Given the description of an element on the screen output the (x, y) to click on. 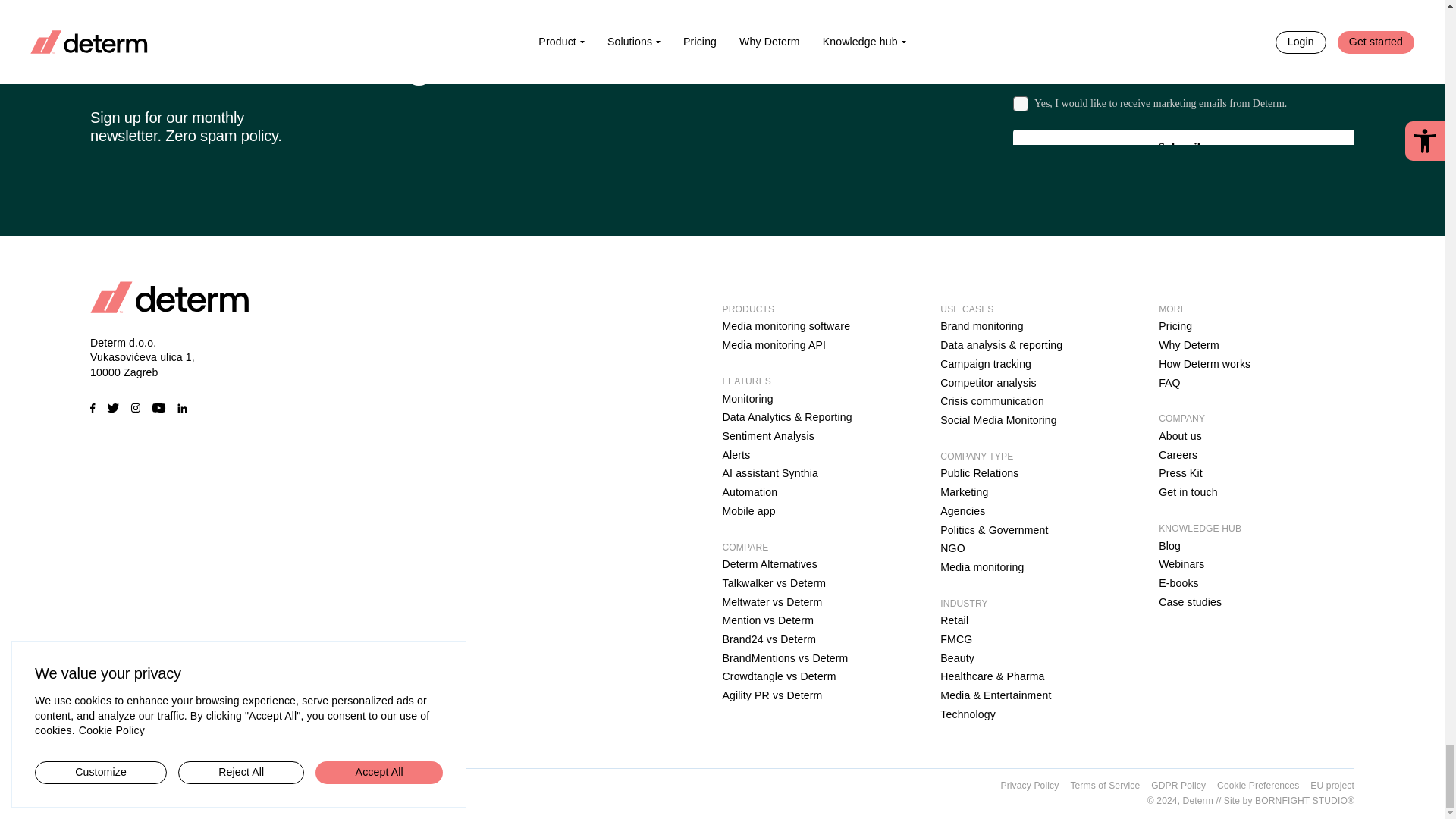
Web Forms (1183, 72)
